Given the description of an element on the screen output the (x, y) to click on. 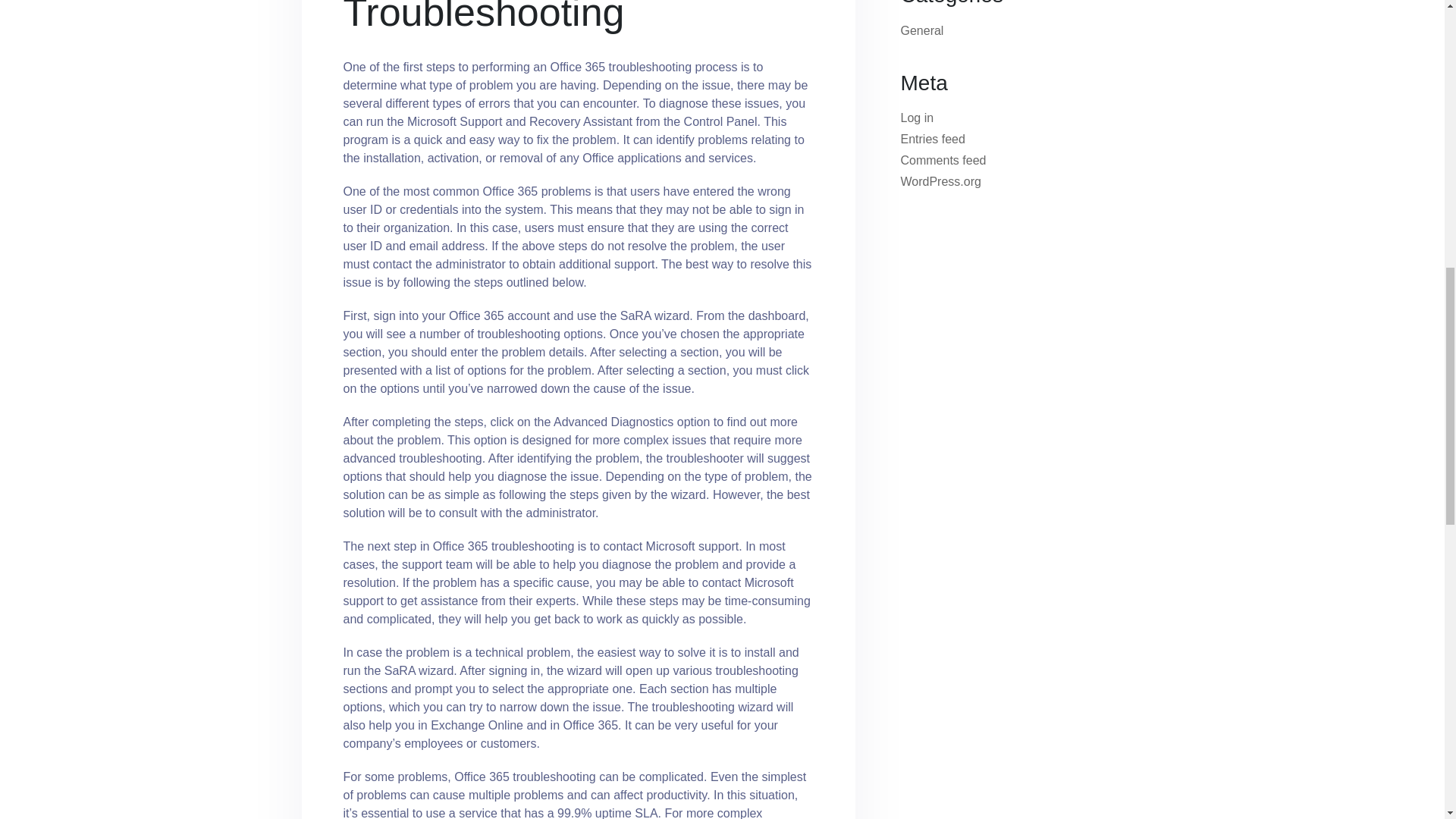
Log in (917, 117)
WordPress.org (941, 181)
Entries feed (933, 138)
Comments feed (944, 160)
General (922, 30)
